Given the description of an element on the screen output the (x, y) to click on. 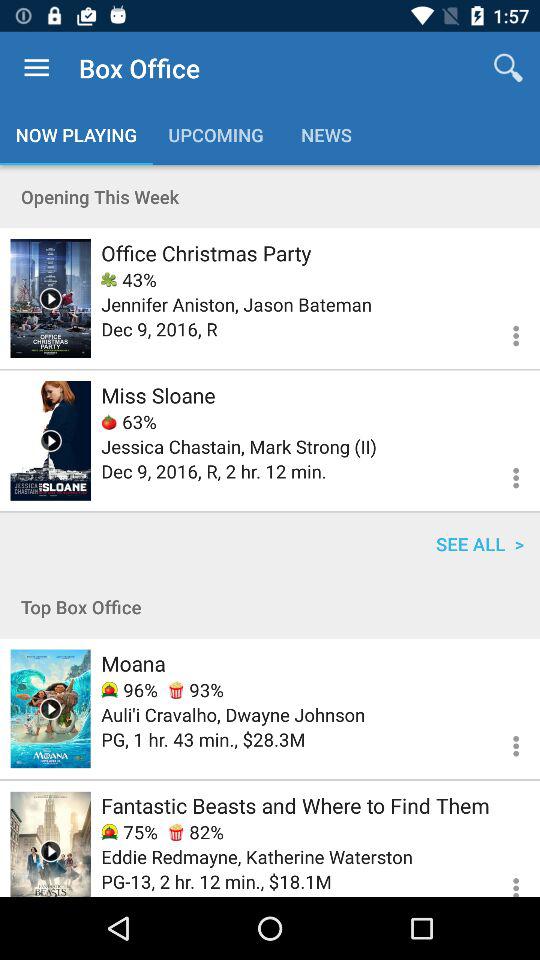
flip until opening this week icon (270, 196)
